Given the description of an element on the screen output the (x, y) to click on. 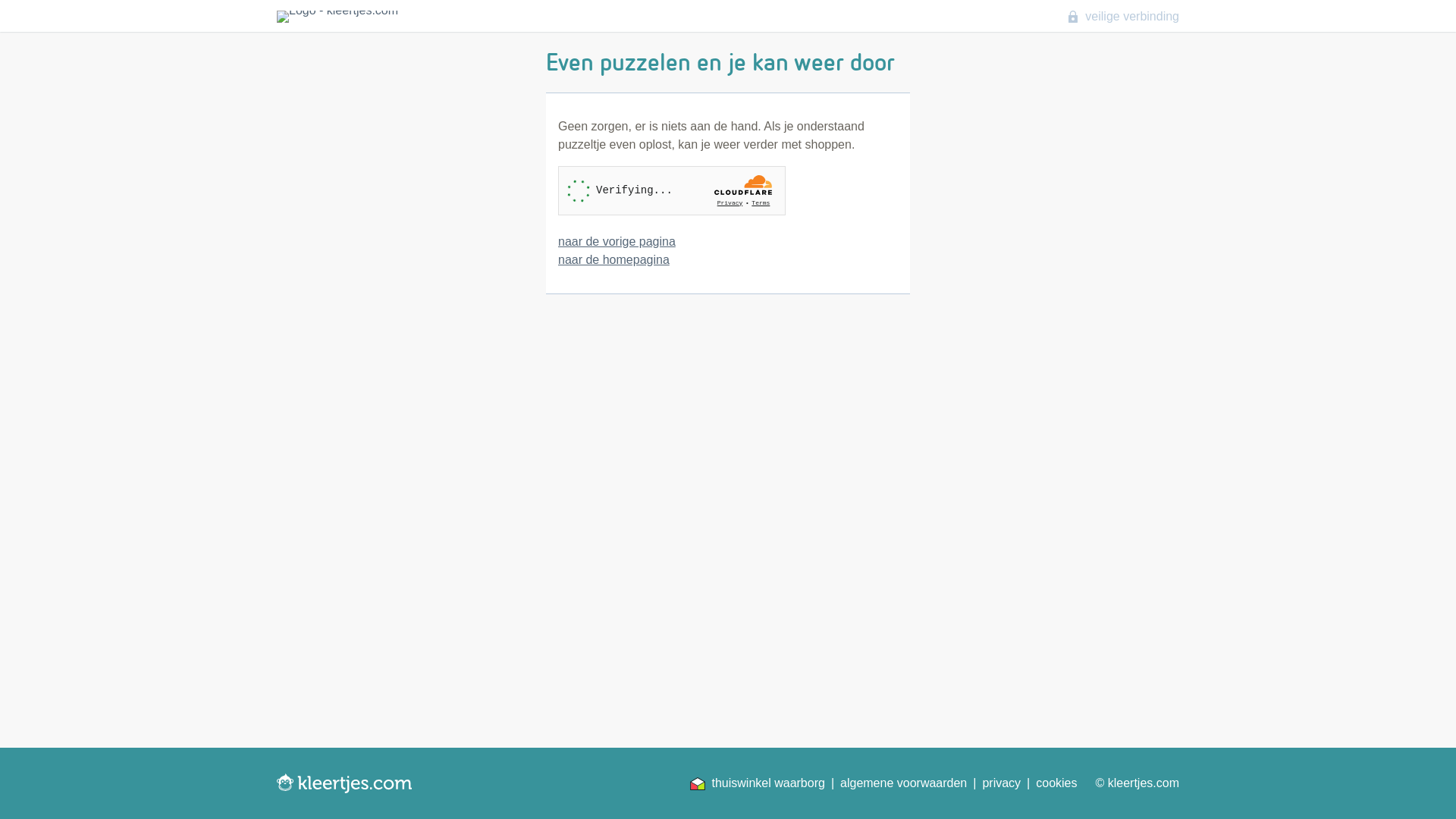
thuiswinkel waarborg Element type: text (757, 783)
Widget containing a Cloudflare security challenge Element type: hover (671, 190)
cookies Element type: text (1055, 783)
Naar home Element type: hover (352, 16)
privacy Element type: text (1001, 783)
algemene voorwaarden Element type: text (903, 783)
naar de vorige pagina Element type: text (616, 241)
naar de homepagina Element type: text (613, 259)
